Given the description of an element on the screen output the (x, y) to click on. 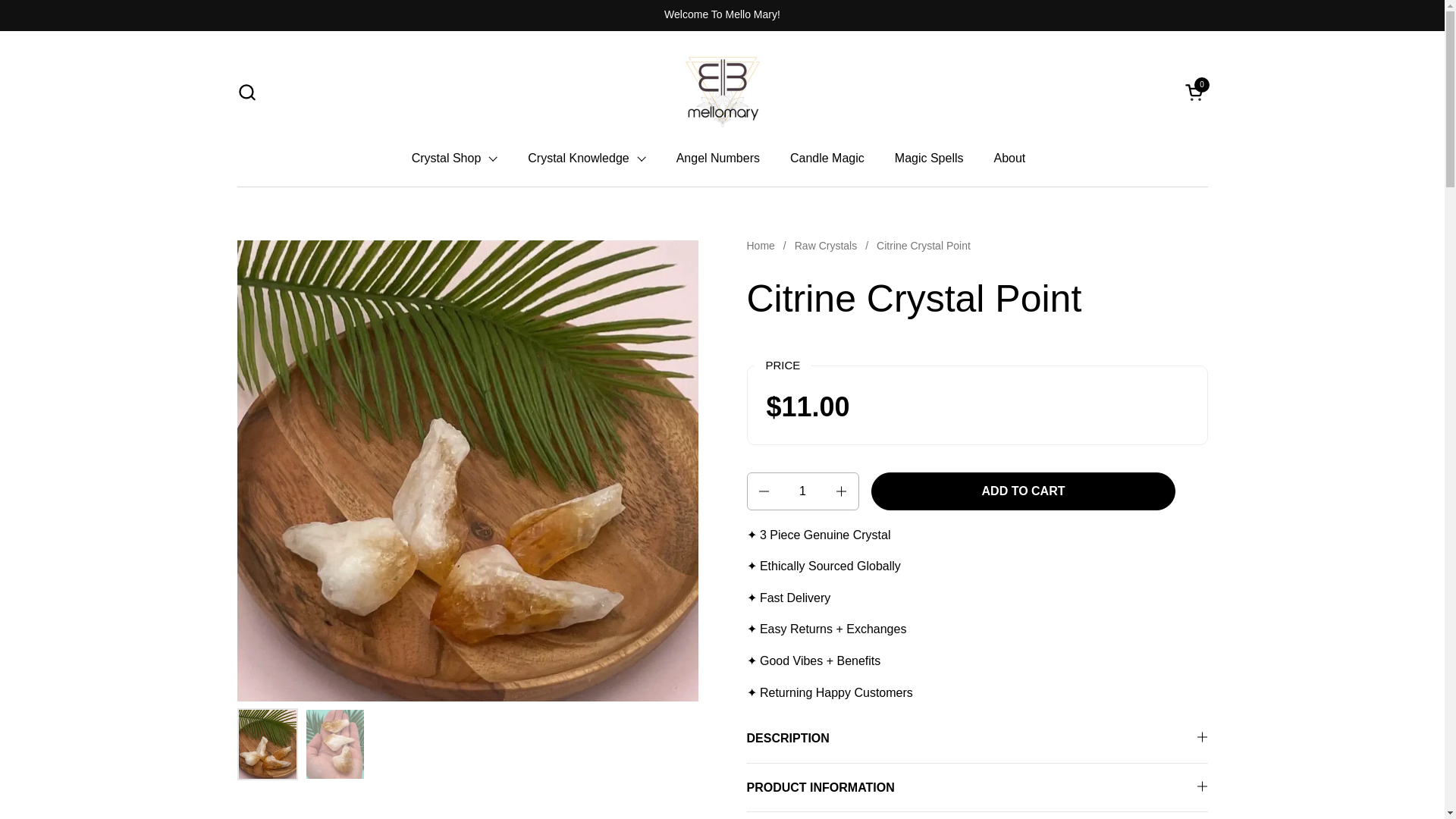
Open cart (1196, 90)
MelloMary (722, 91)
Open search (245, 90)
Candle Magic (826, 158)
Crystal Shop (454, 158)
Angel Numbers (717, 158)
Crystal Knowledge (586, 158)
Magic Spells (1196, 90)
About (928, 158)
